Given the description of an element on the screen output the (x, y) to click on. 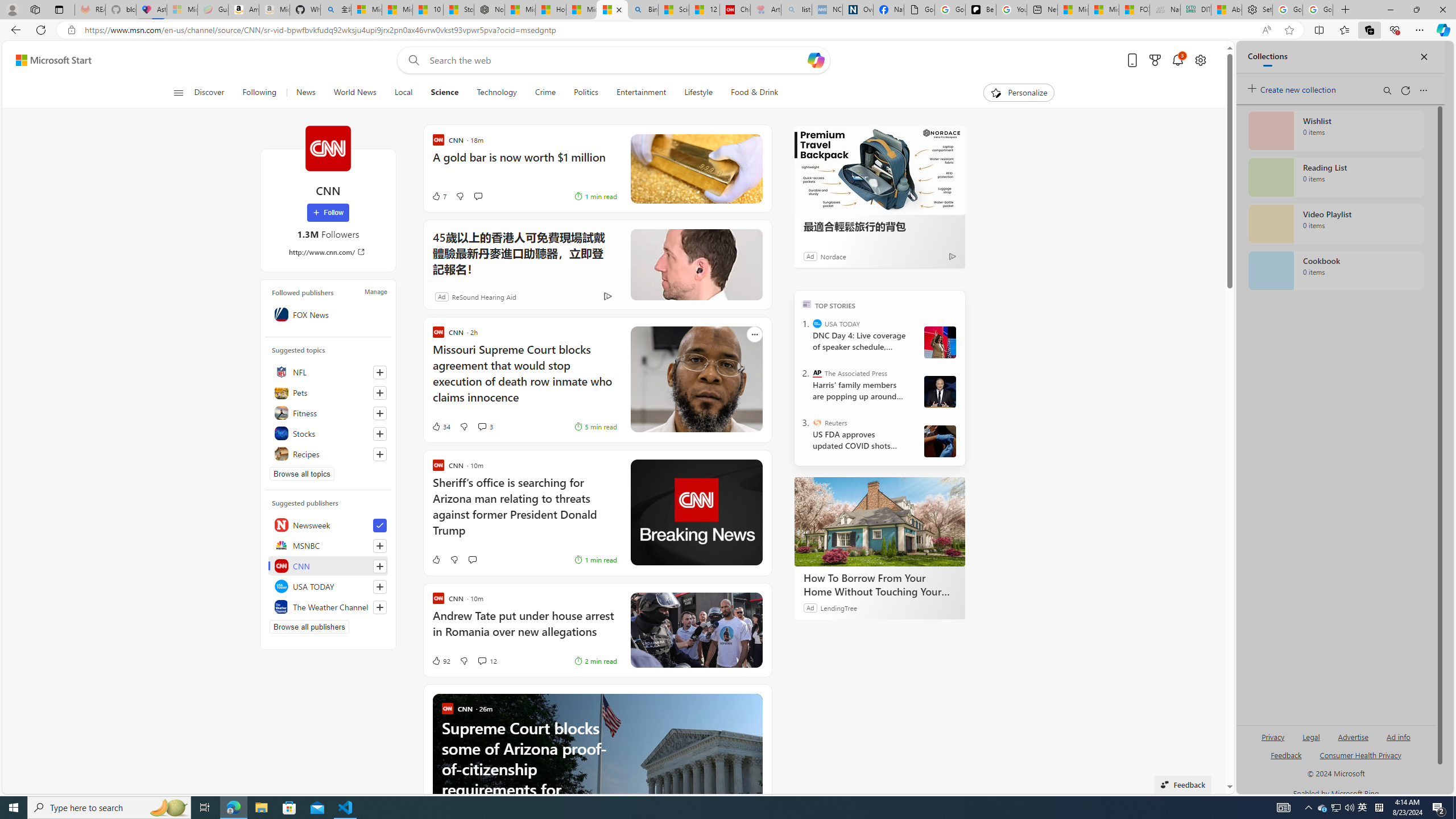
92 Like (427, 661)
Personalize (1019, 92)
Manage (375, 291)
Google Analytics Opt-out Browser Add-on Download Page (919, 9)
